Given the description of an element on the screen output the (x, y) to click on. 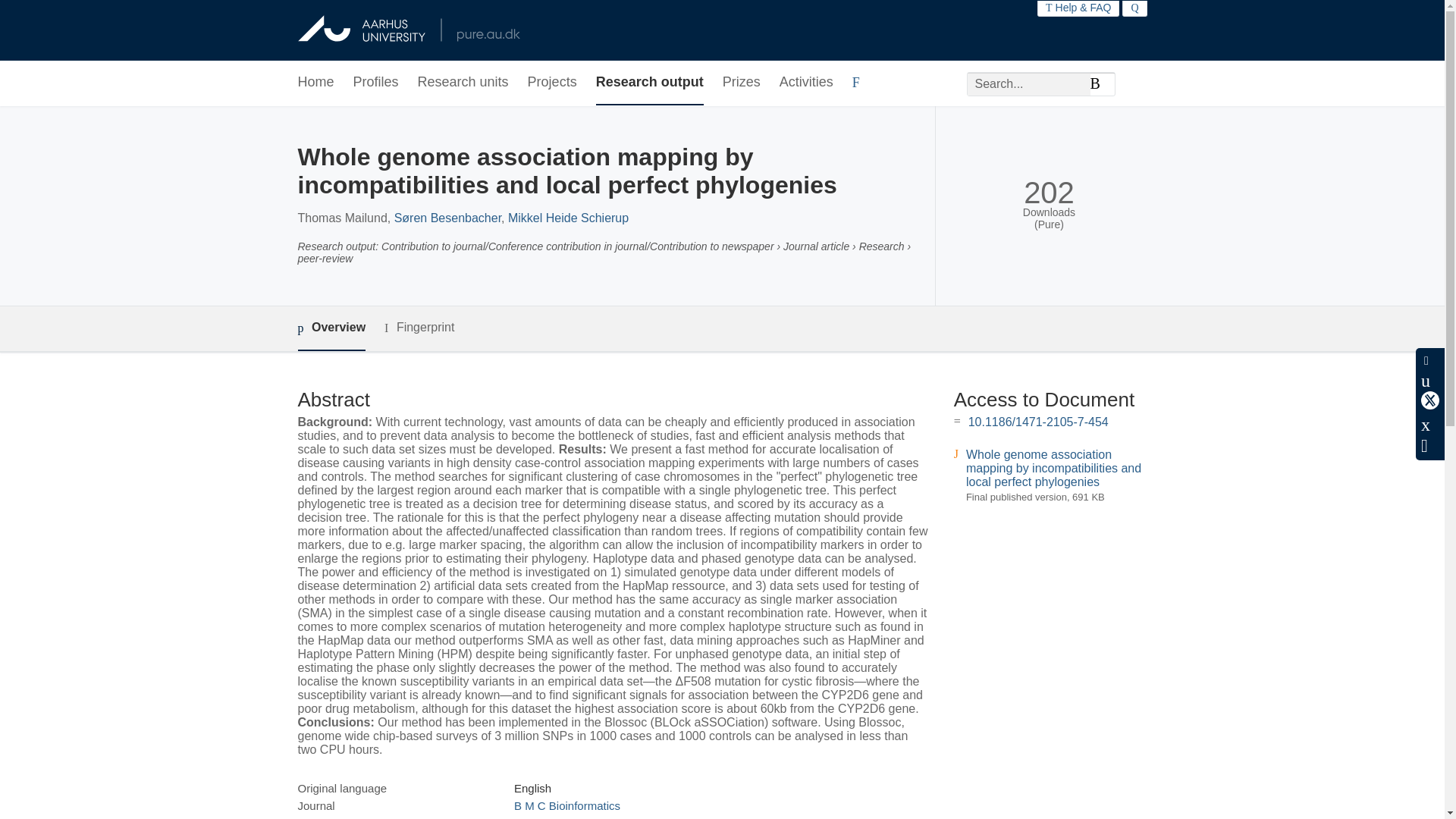
Research units (462, 82)
Profiles (375, 82)
Projects (551, 82)
Activities (805, 82)
B M C Bioinformatics (566, 805)
Fingerprint (419, 327)
Research output (649, 82)
Mikkel Heide Schierup (568, 217)
Overview (331, 328)
